Given the description of an element on the screen output the (x, y) to click on. 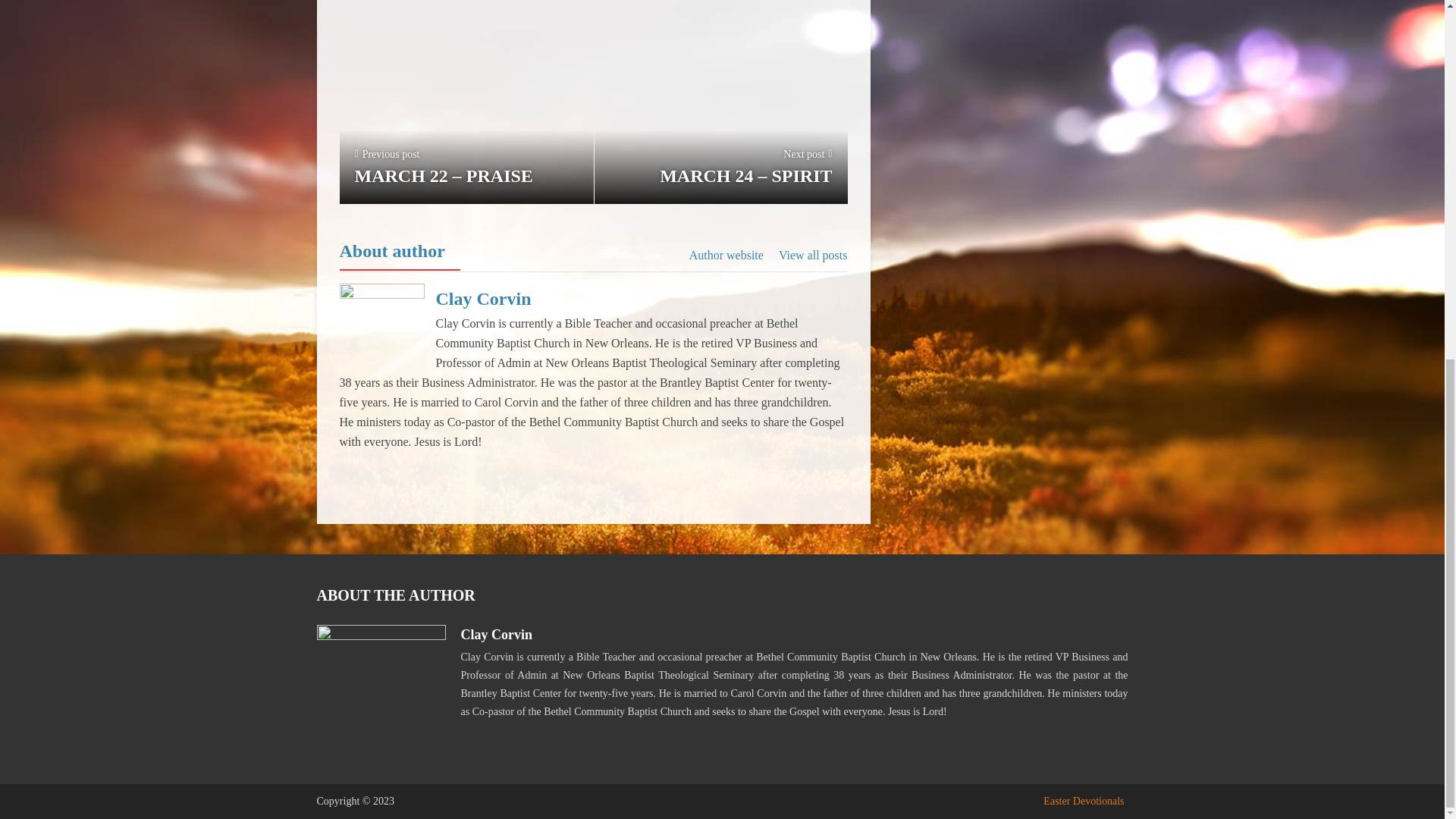
Easter Devotionals (1083, 800)
Author website (725, 255)
View all posts (812, 255)
